Given the description of an element on the screen output the (x, y) to click on. 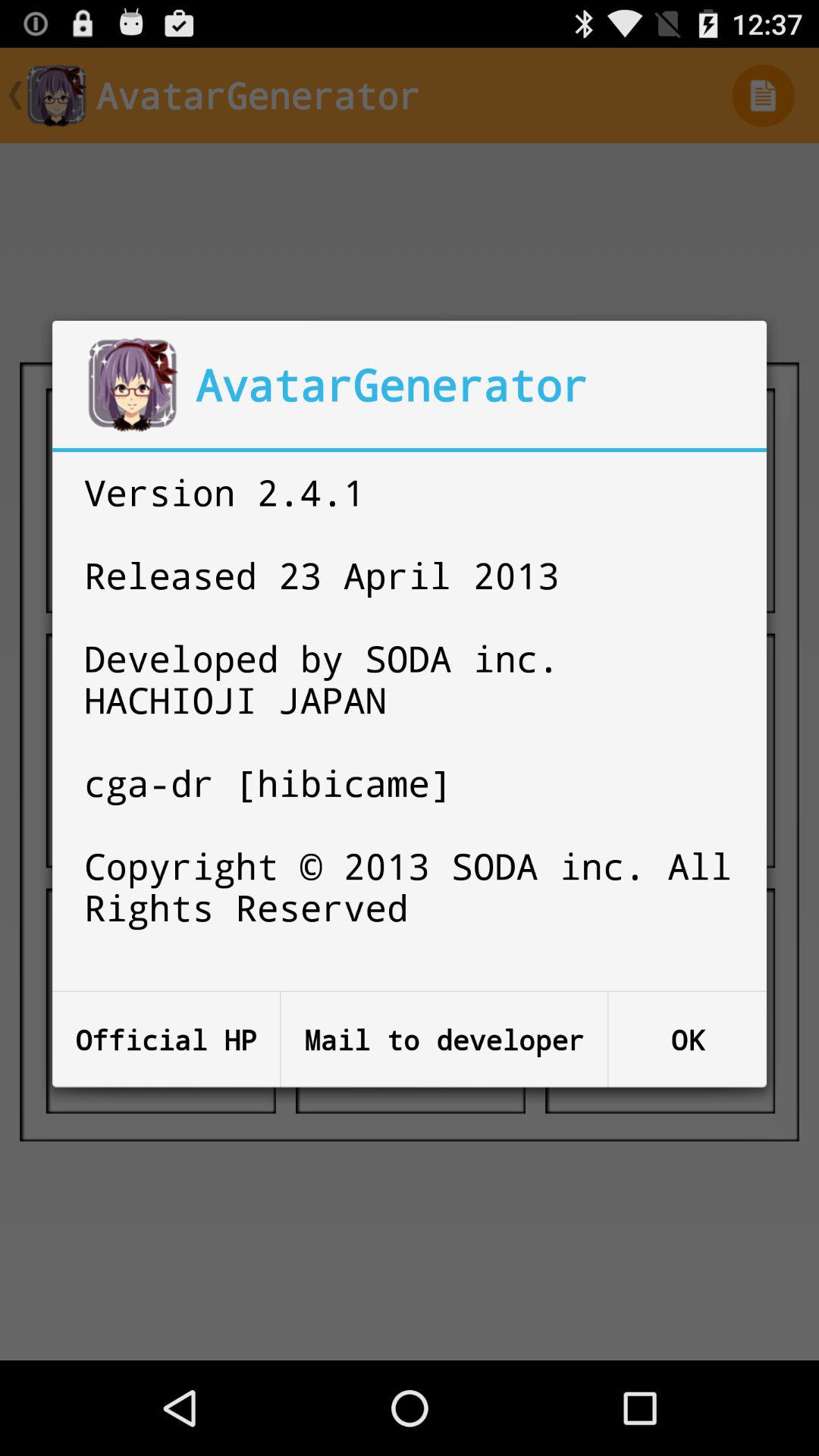
tap the icon below the version 2 4 item (687, 1039)
